Given the description of an element on the screen output the (x, y) to click on. 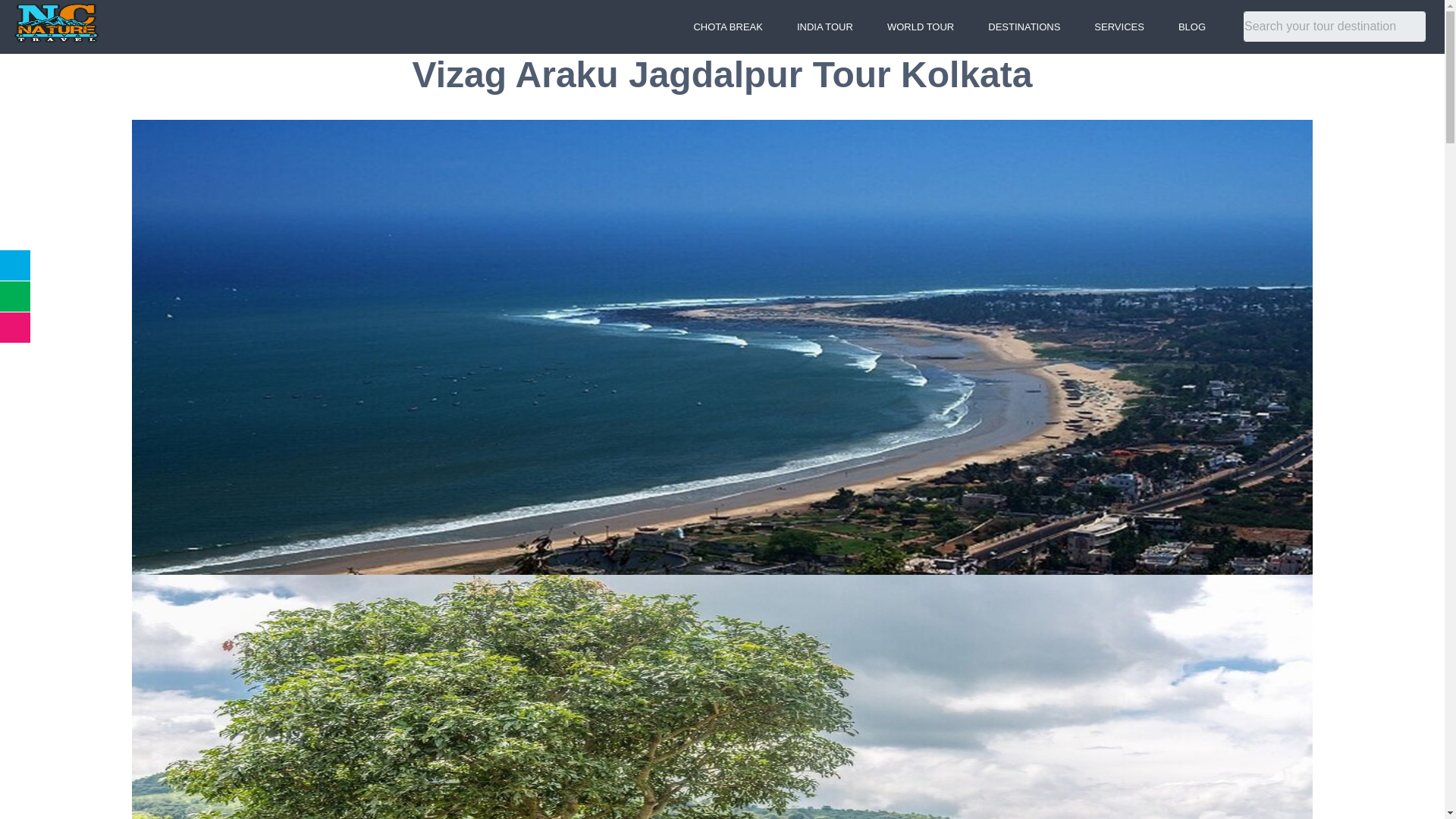
SERVICES (1119, 26)
INDIA TOUR (825, 26)
DESTINATIONS (1023, 26)
BLOG (1192, 26)
CHOTA BREAK (727, 26)
WORLD TOUR (920, 26)
